Given the description of an element on the screen output the (x, y) to click on. 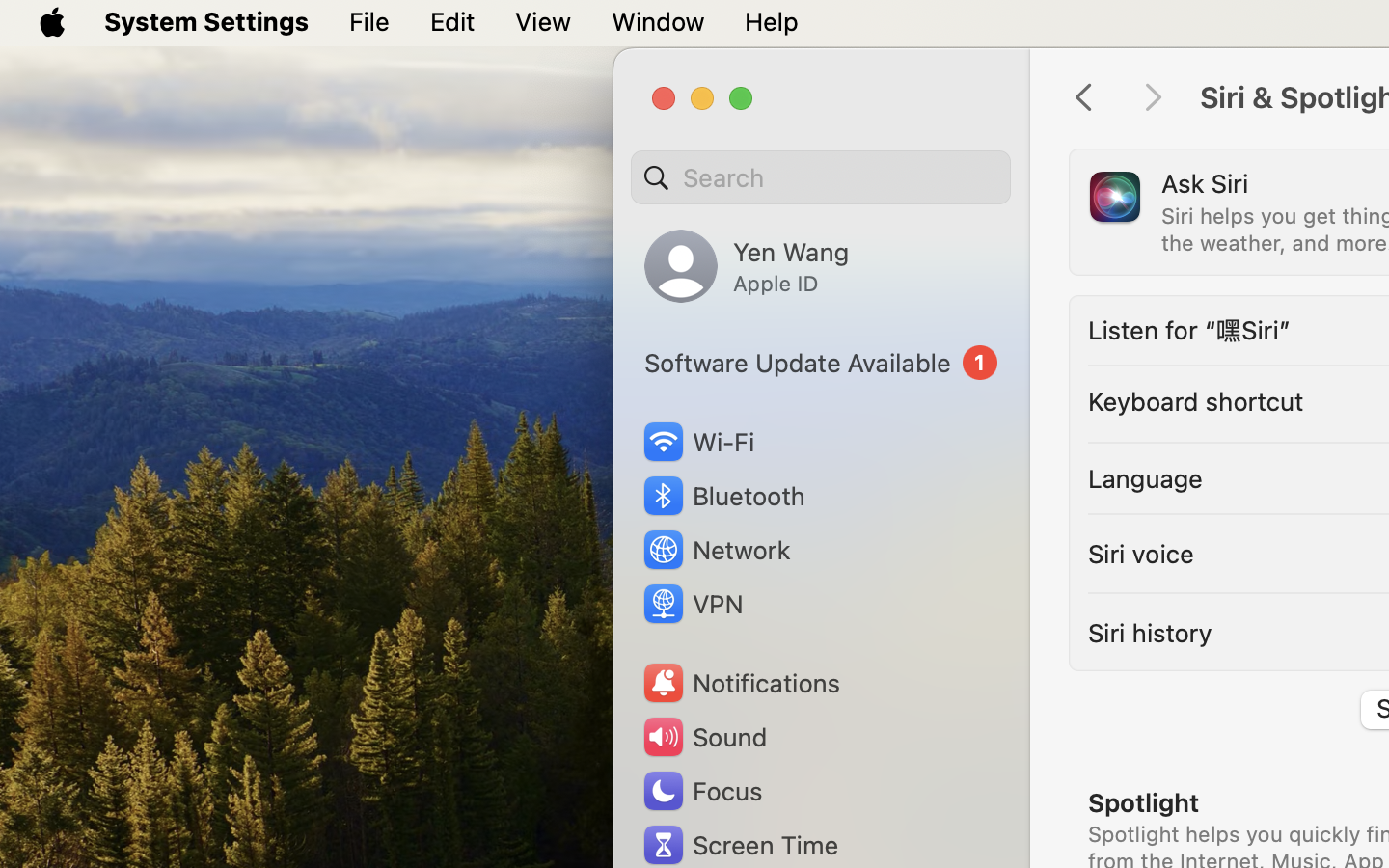
Language Element type: AXStaticText (1145, 477)
Focus Element type: AXStaticText (701, 790)
Notifications Element type: AXStaticText (740, 682)
Screen Time Element type: AXStaticText (739, 844)
